Given the description of an element on the screen output the (x, y) to click on. 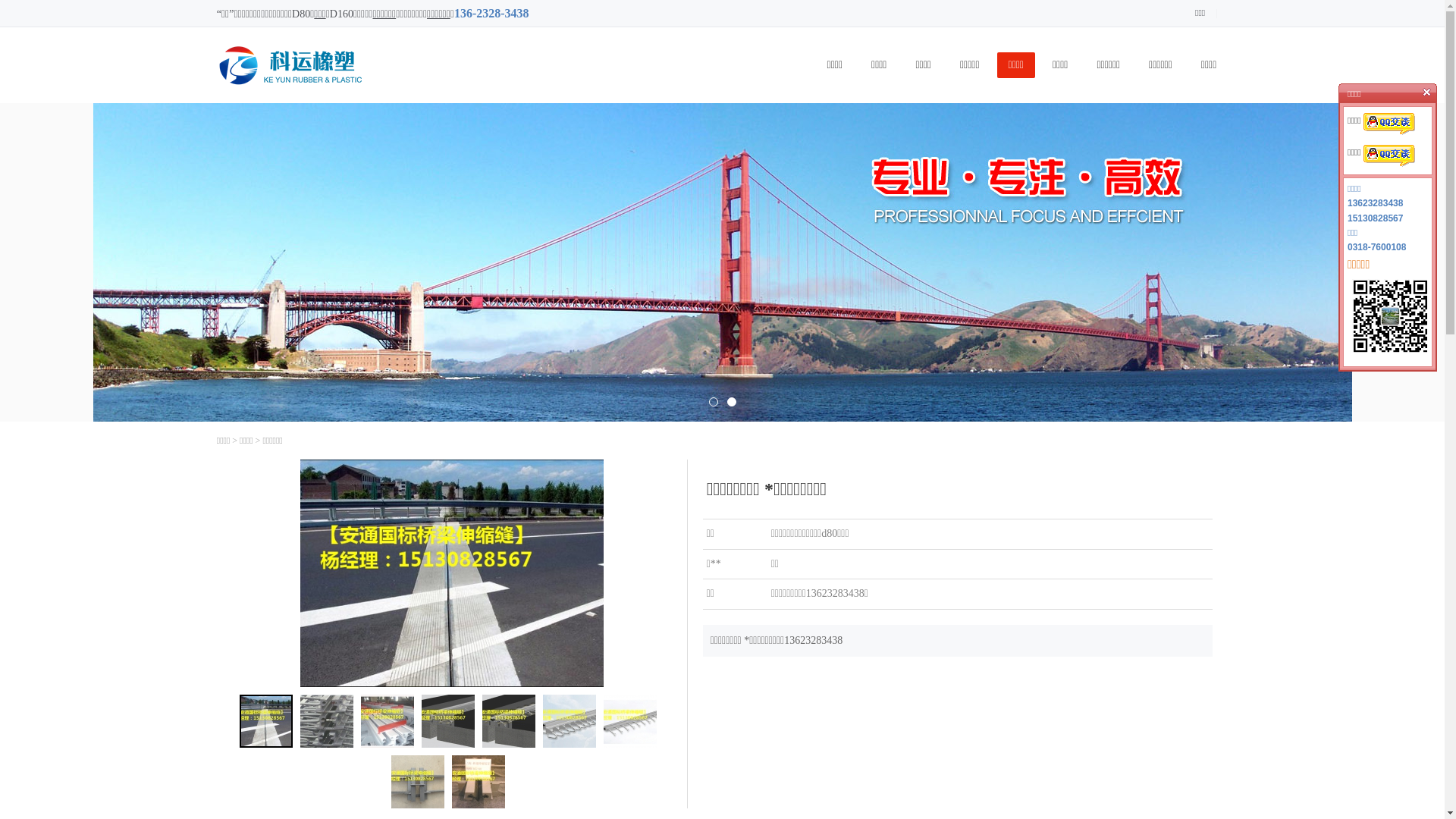
1 Element type: text (712, 401)
2 Element type: text (730, 401)
